Given the description of an element on the screen output the (x, y) to click on. 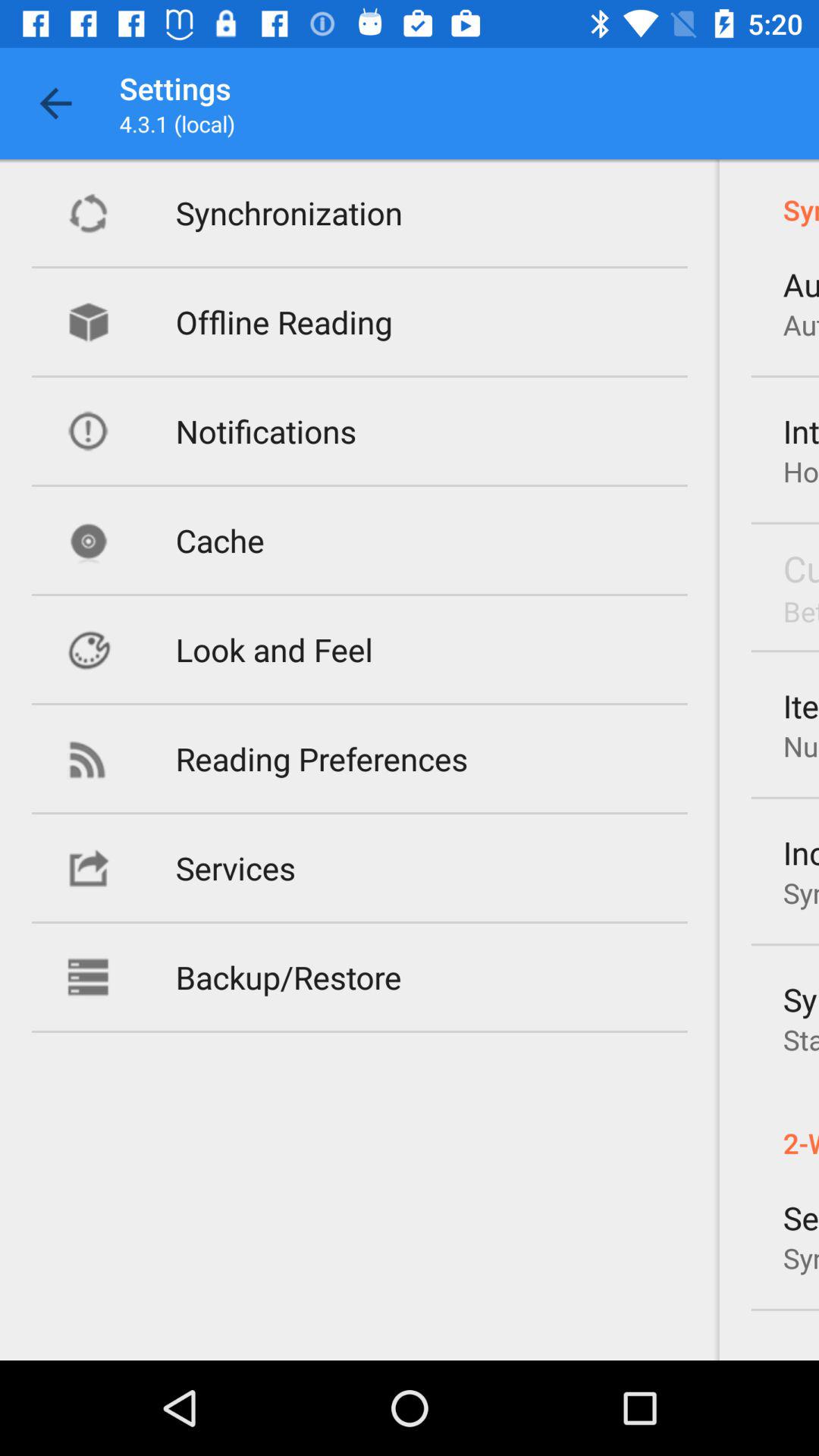
turn off the backup/restore item (288, 976)
